Given the description of an element on the screen output the (x, y) to click on. 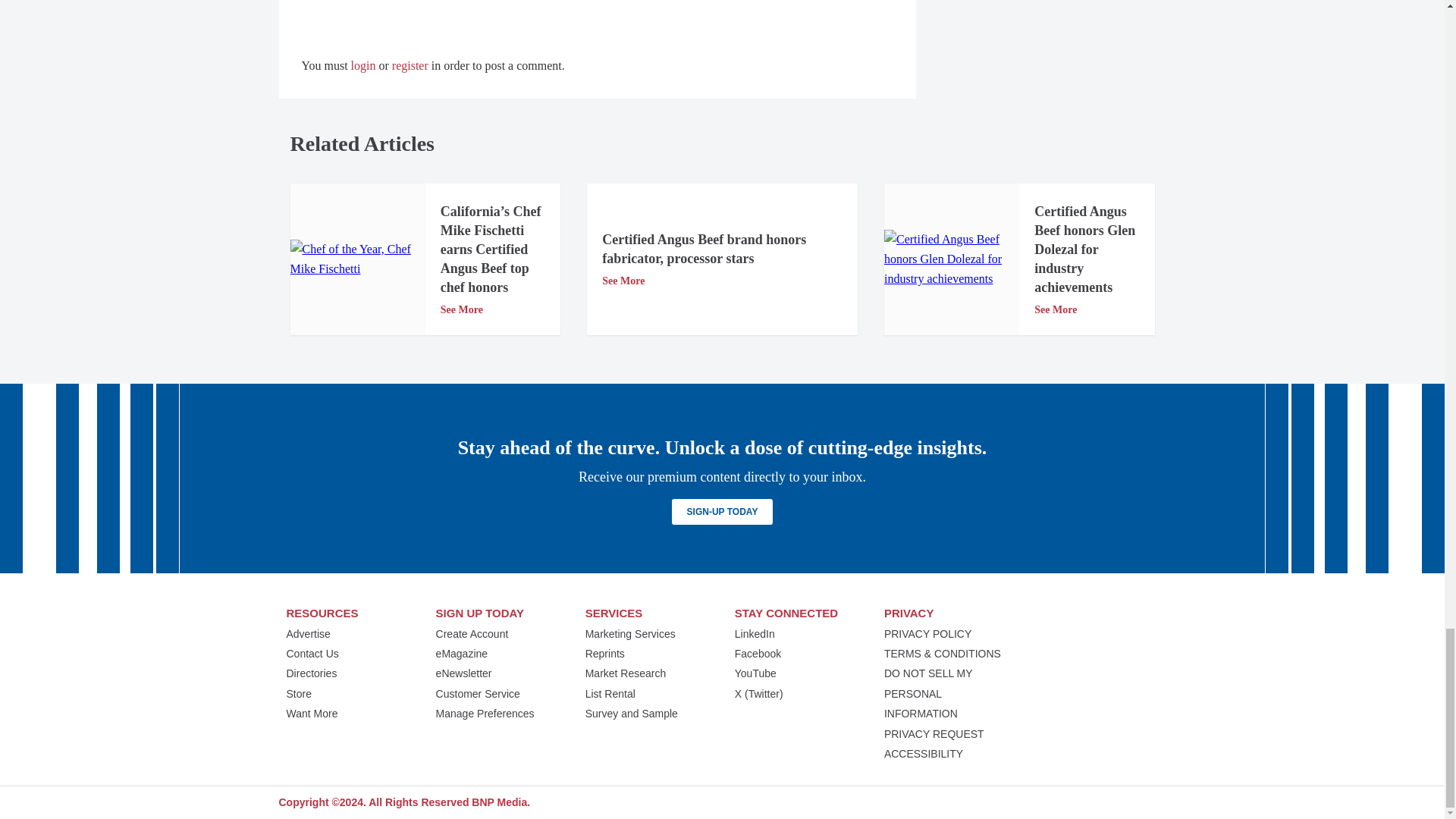
Chef of the Year, Chef Mike Fischetti (357, 259)
Interaction questions (597, 9)
